Given the description of an element on the screen output the (x, y) to click on. 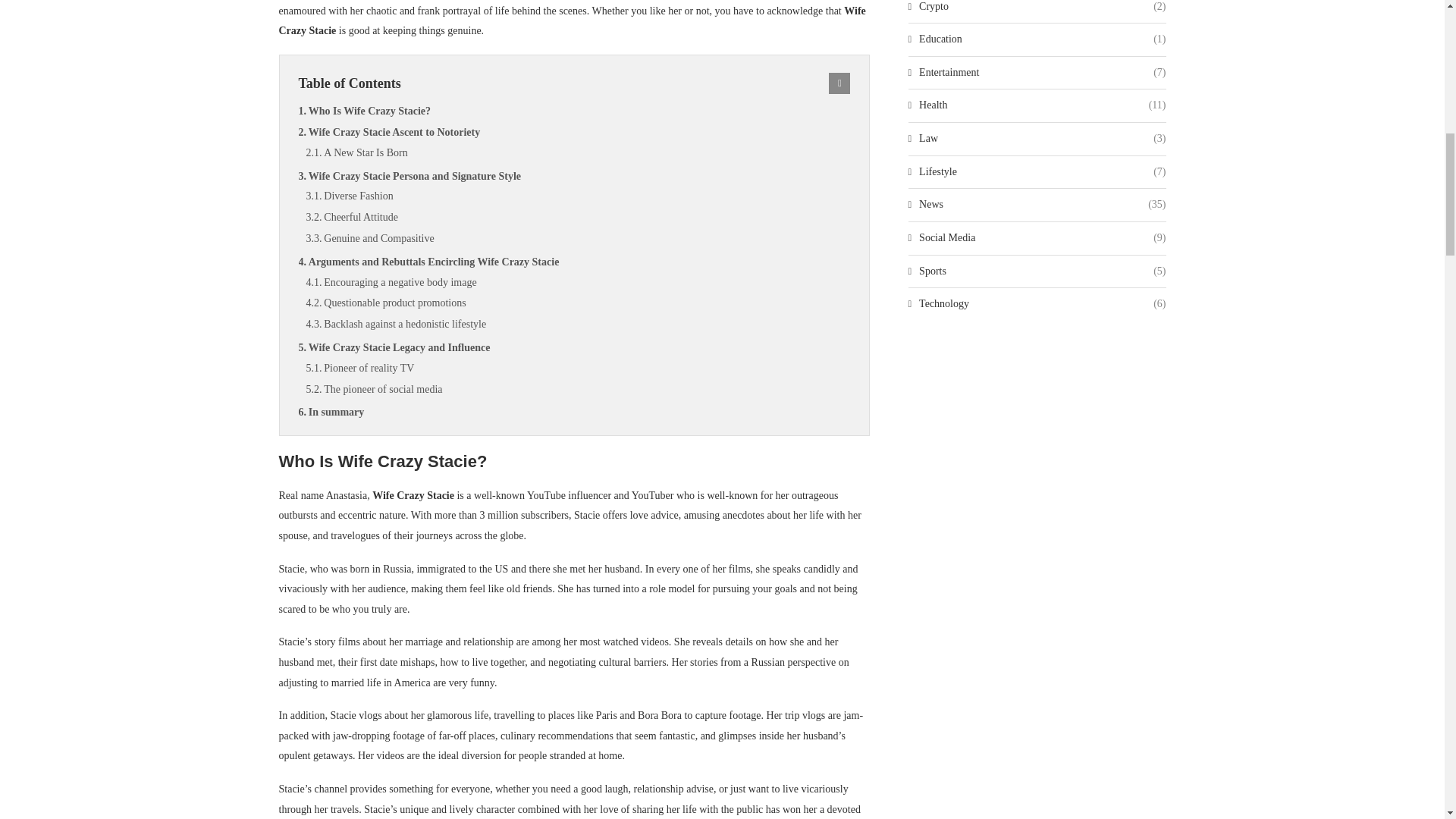
Questionable product promotions (577, 302)
Who Is Wife Crazy Stacie? (574, 111)
Diverse Fashion (577, 196)
Wife Crazy Stacie Persona and Signature Style (574, 176)
Backlash against a hedonistic lifestyle (577, 324)
In summary (574, 412)
Wife Crazy Stacie Legacy and Influence (574, 347)
Arguments and Rebuttals Encircling Wife Crazy Stacie (574, 261)
Genuine and Compasitive (577, 238)
Pioneer of reality TV (577, 368)
Wife Crazy Stacie Ascent to Notoriety (574, 132)
Encouraging a negative body image (577, 282)
The pioneer of social media (577, 389)
Cheerful Attitude (577, 217)
A New Star Is Born (577, 152)
